Given the description of an element on the screen output the (x, y) to click on. 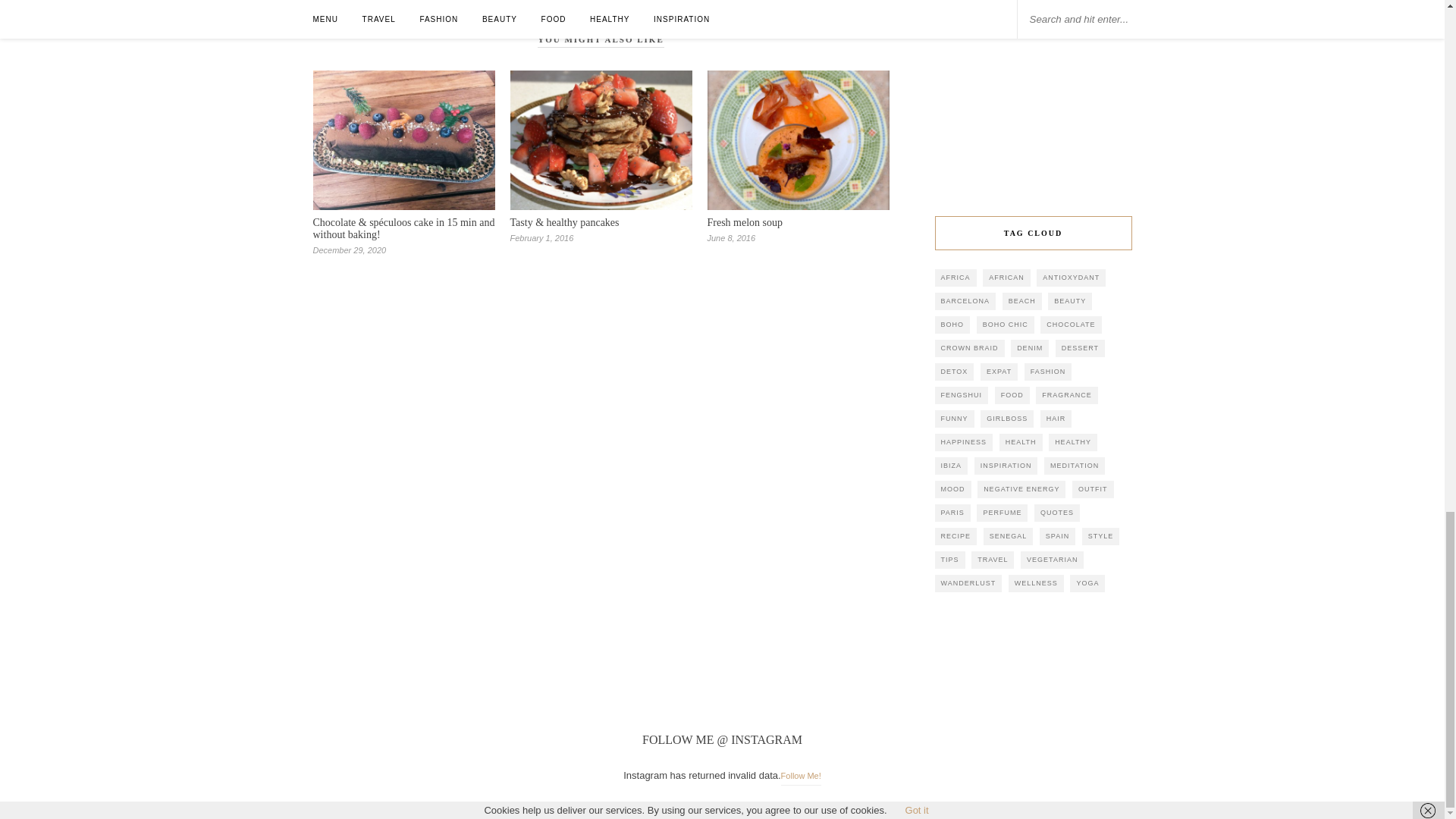
Fresh melon soup (744, 222)
